Given the description of an element on the screen output the (x, y) to click on. 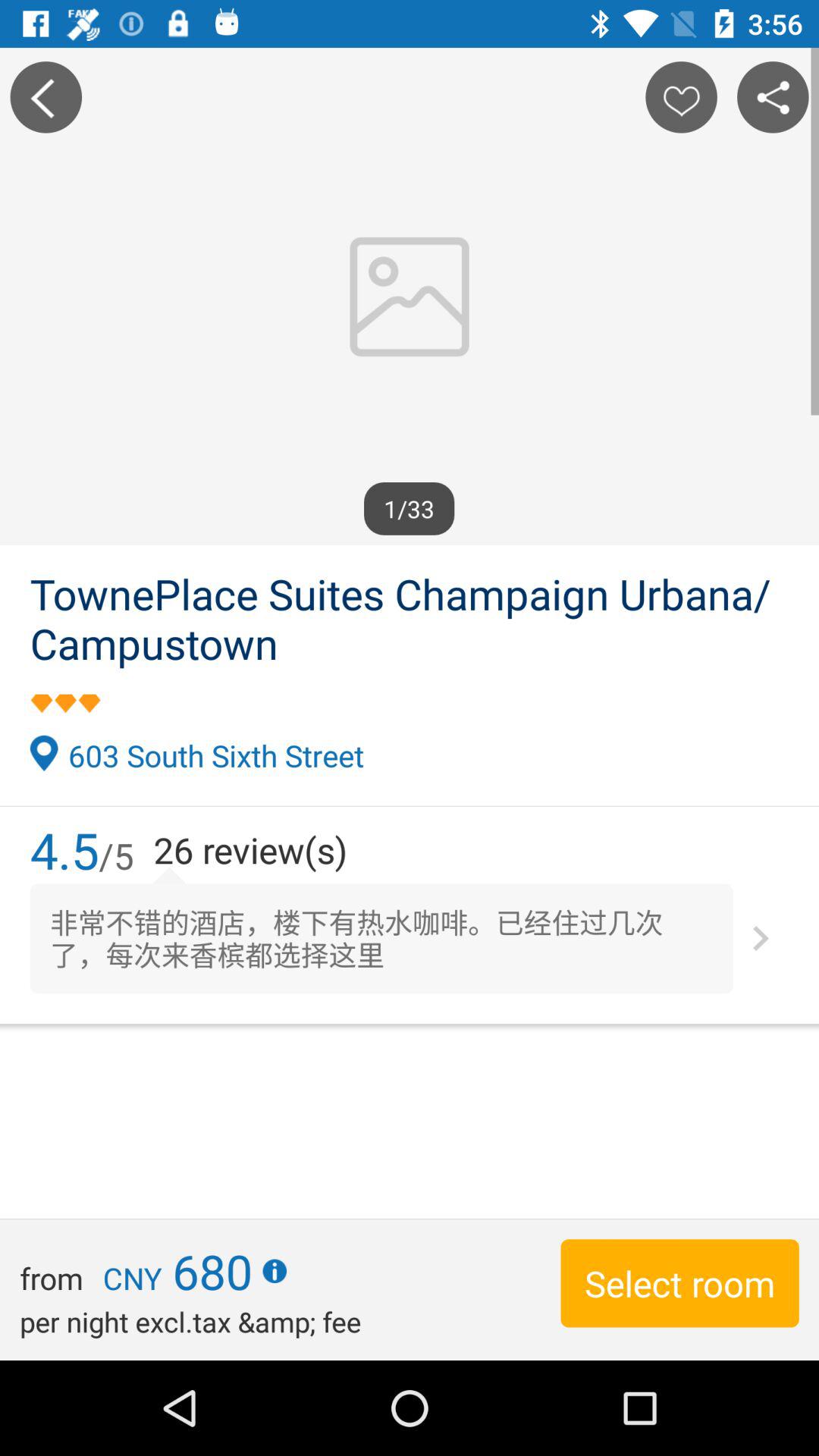
open share tab (772, 97)
